Given the description of an element on the screen output the (x, y) to click on. 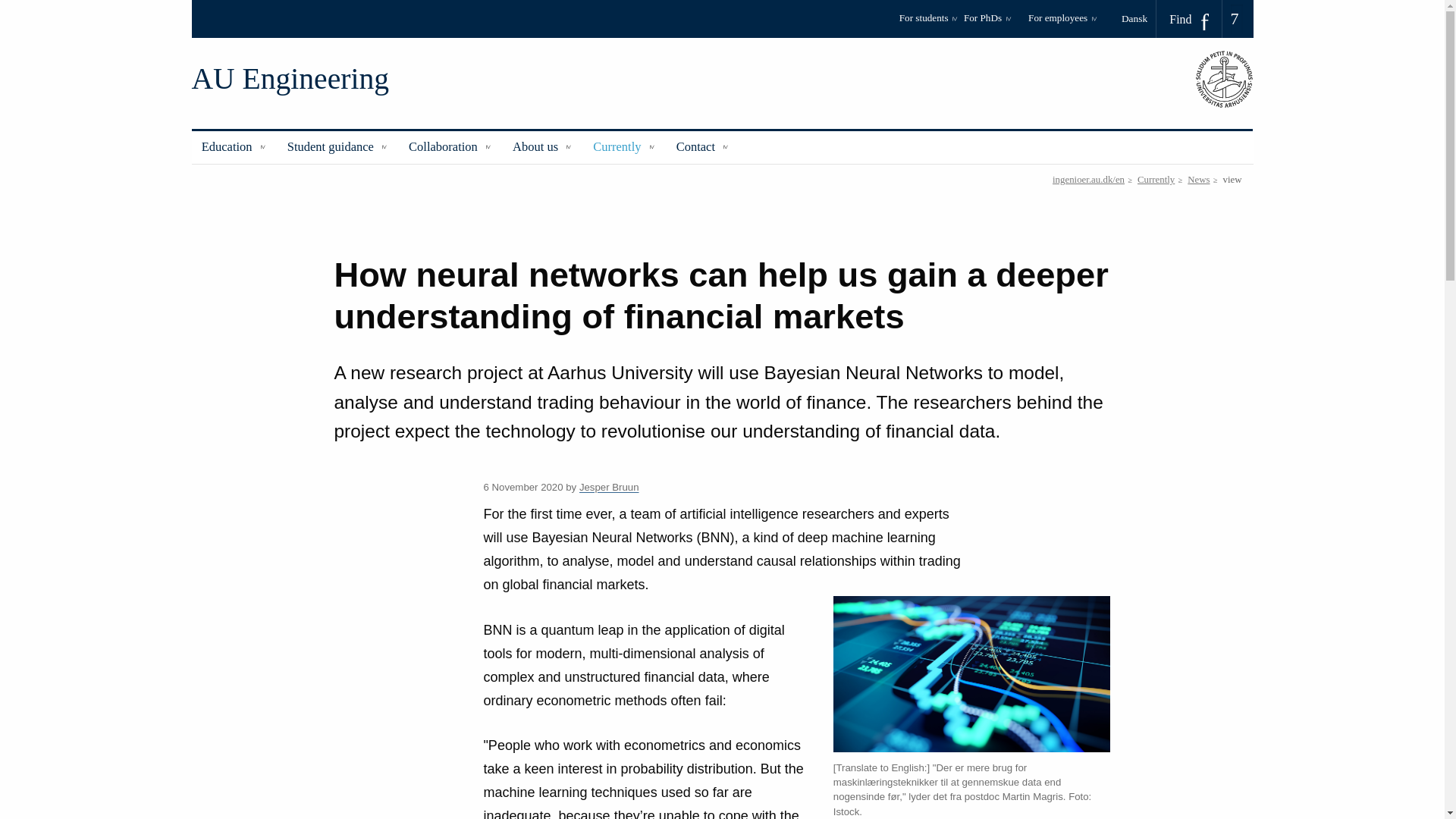
Find (1189, 19)
For employees (1061, 23)
For PhDs (992, 22)
Search (17, 5)
Student guidance (338, 147)
AU Engineering (289, 78)
Collaboration (450, 147)
Dansk (1139, 18)
For students (927, 22)
About us (542, 147)
